Given the description of an element on the screen output the (x, y) to click on. 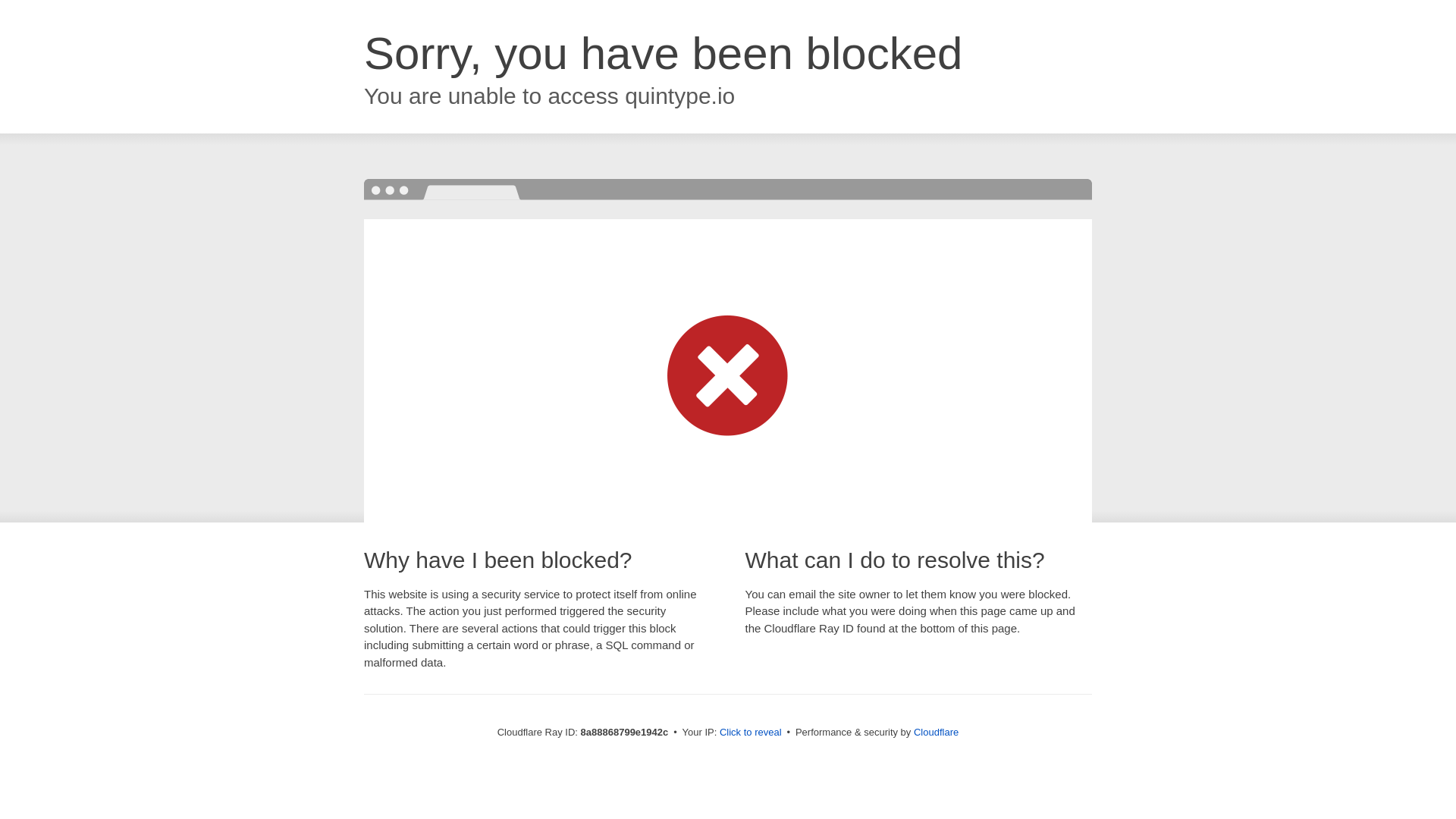
Click to reveal (750, 732)
Cloudflare (936, 731)
